Given the description of an element on the screen output the (x, y) to click on. 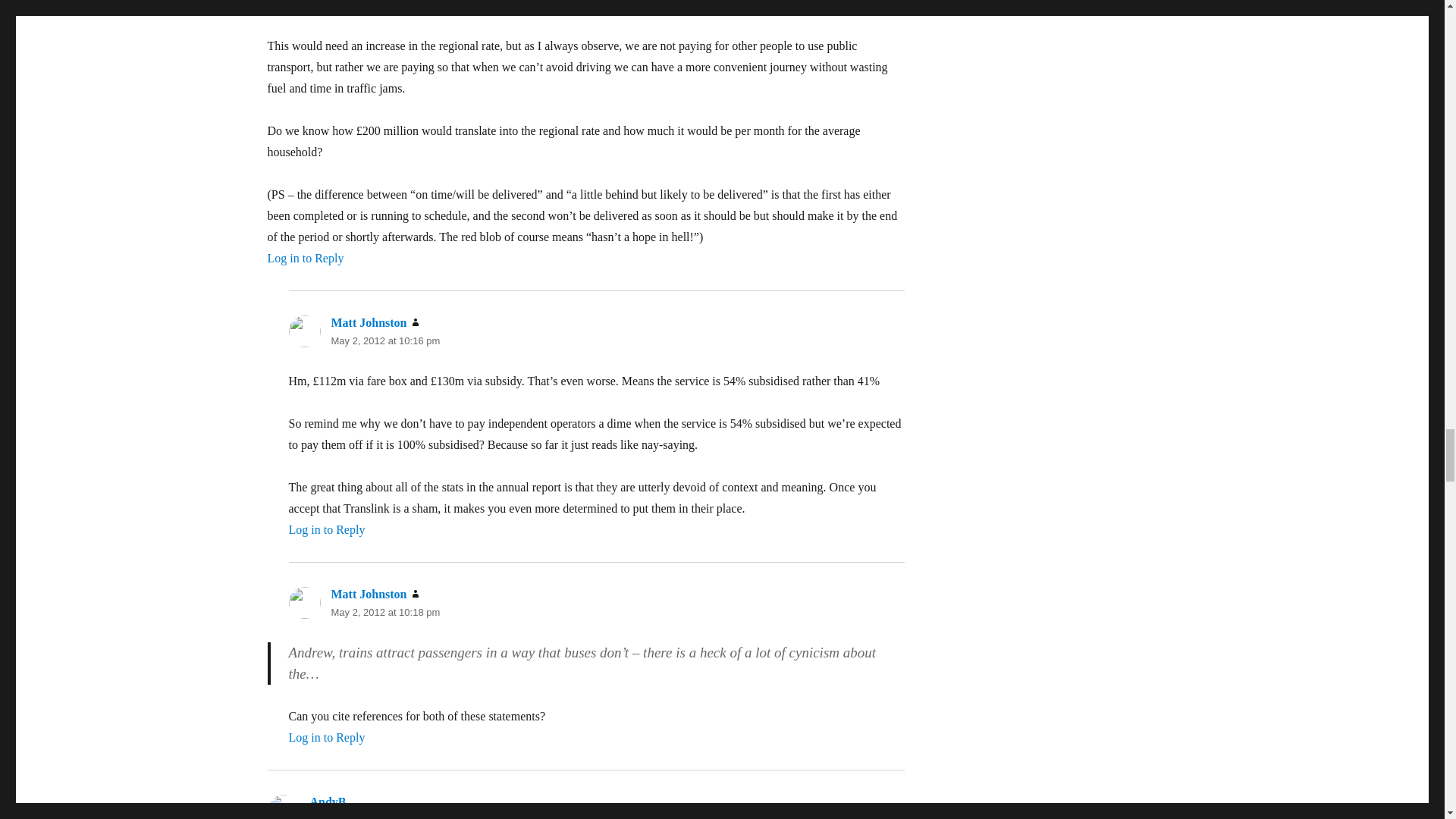
AndyB (327, 801)
May 2, 2012 at 10:16 pm (384, 340)
Log in to Reply (326, 529)
Matt Johnston (368, 322)
Matt Johnston (368, 594)
Log in to Reply (326, 737)
Log in to Reply (304, 257)
May 2, 2012 at 10:18 pm (384, 612)
